Given the description of an element on the screen output the (x, y) to click on. 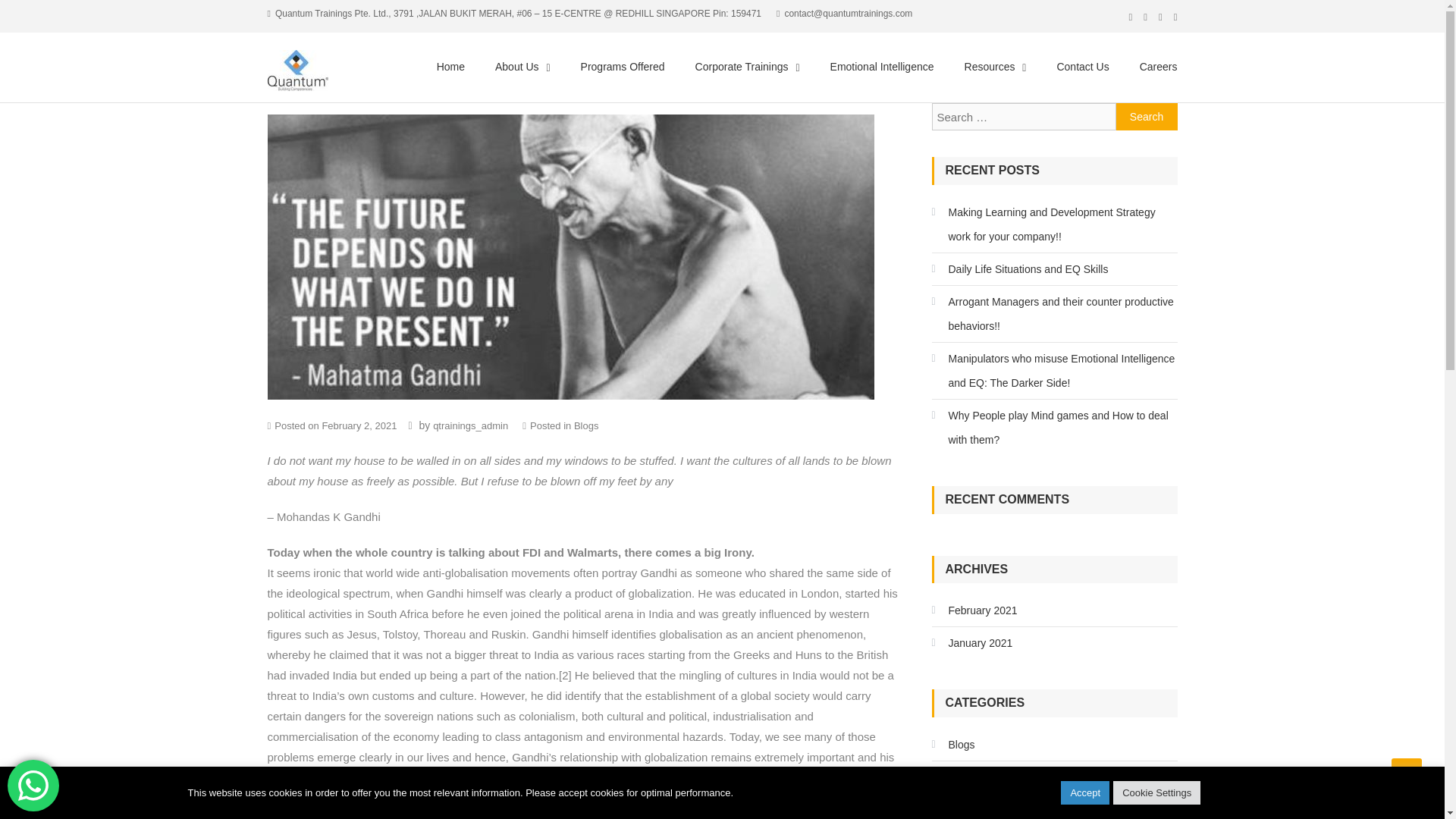
Programs Offered (622, 66)
Careers (1150, 66)
February 2, 2021 (358, 425)
About Us (517, 66)
Search (1146, 116)
Contact Us (1082, 66)
Blogs (585, 425)
Corporate Trainings (741, 66)
Emotional Intelligence (882, 66)
